Given the description of an element on the screen output the (x, y) to click on. 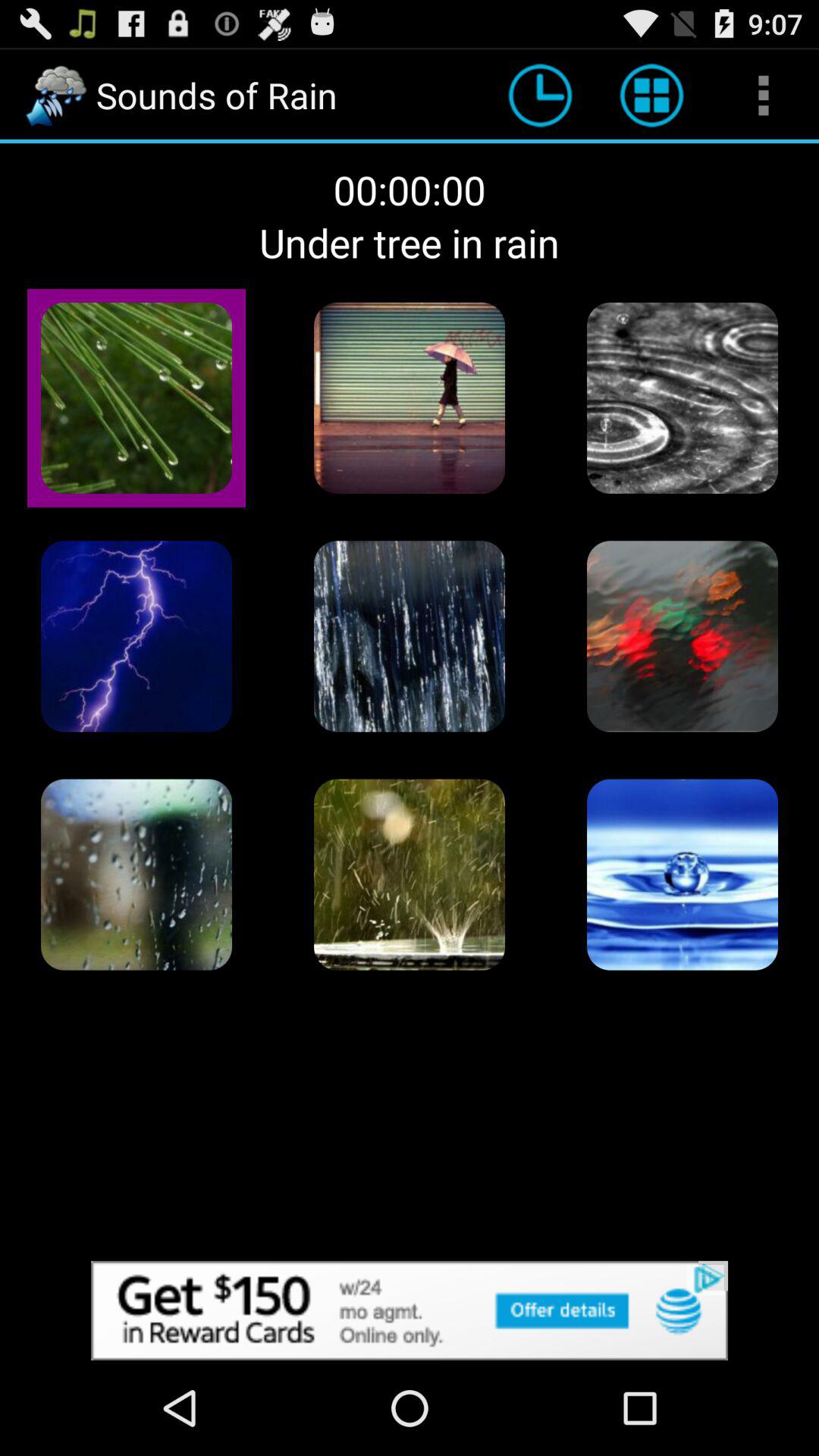
go to site (409, 1310)
